Given the description of an element on the screen output the (x, y) to click on. 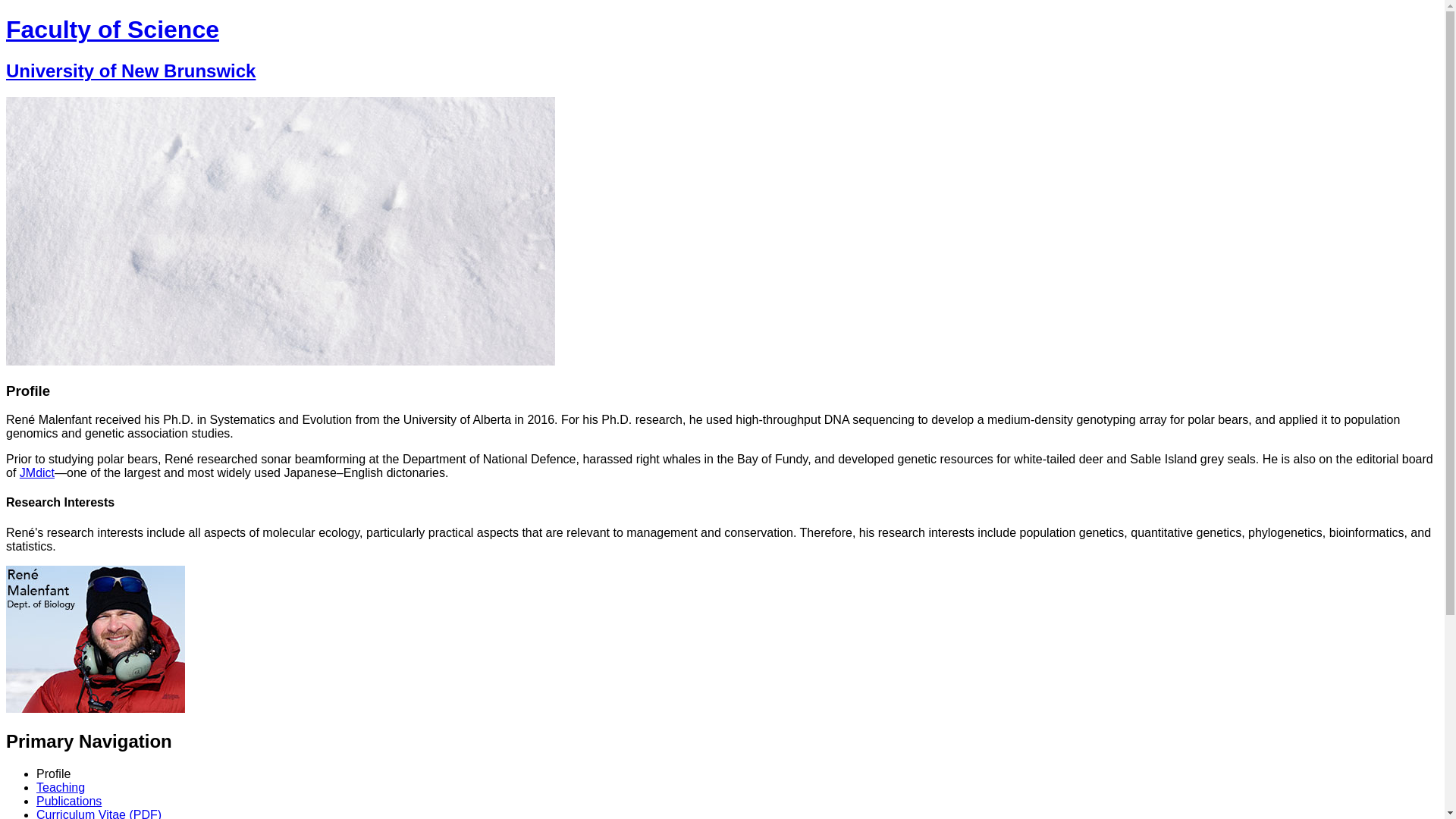
Profile (52, 773)
JMdict (37, 472)
Teaching (60, 787)
University of New Brunswick (130, 70)
Faculty of Science (112, 29)
Publications (68, 800)
